Given the description of an element on the screen output the (x, y) to click on. 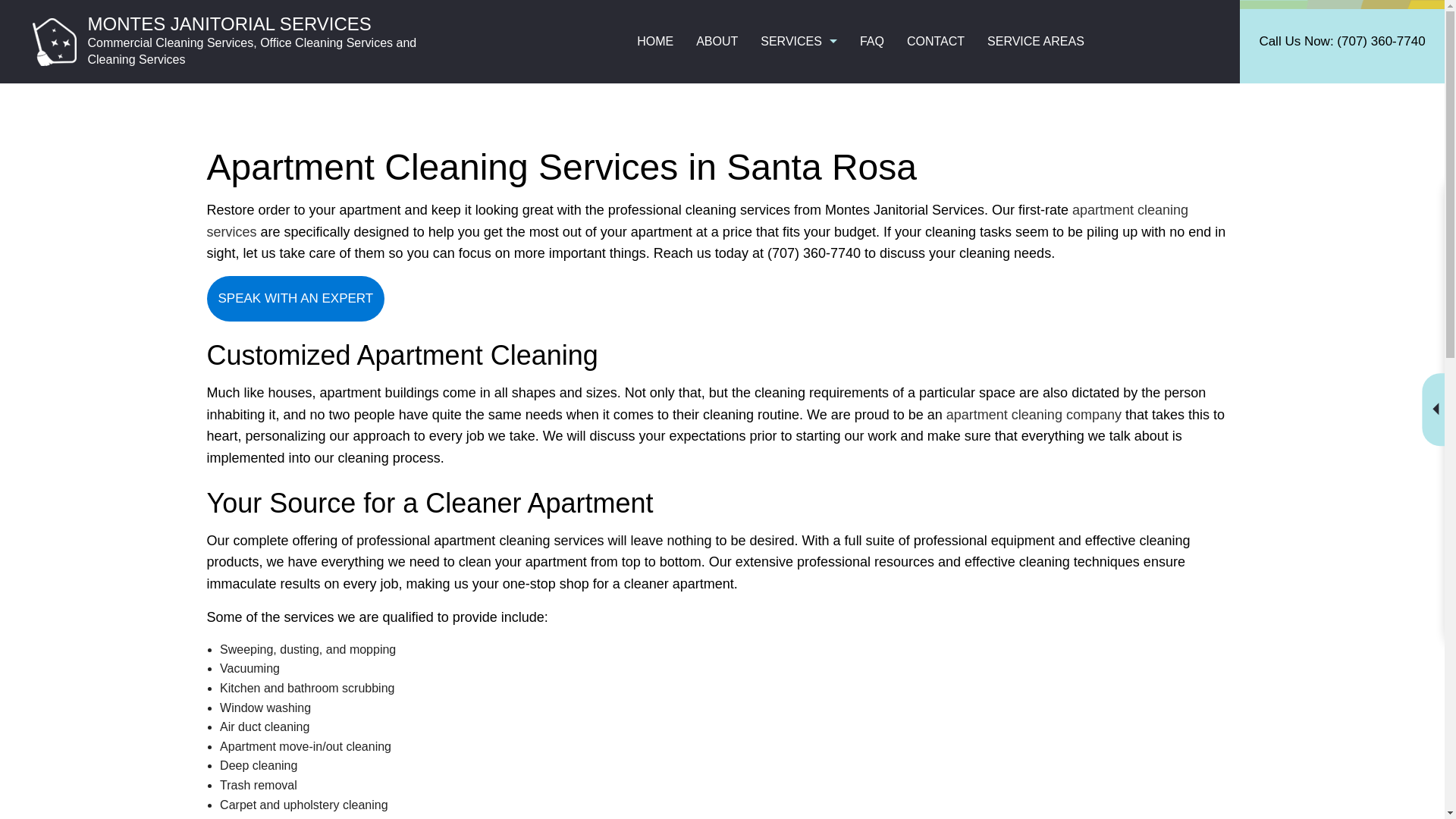
GREEN CLEANING (678, 173)
BANK CLEANERS (884, 120)
SERVICES (798, 41)
FLOOR STRIPPING AND WAXING (884, 147)
APARTMENT CLEANING (678, 120)
COMMERCIAL CLEANING (678, 147)
Learn more about Janitorial Services (1033, 414)
Montes Janitorial Services (53, 40)
Learn more about Apartment Cleaning Services (697, 220)
